Given the description of an element on the screen output the (x, y) to click on. 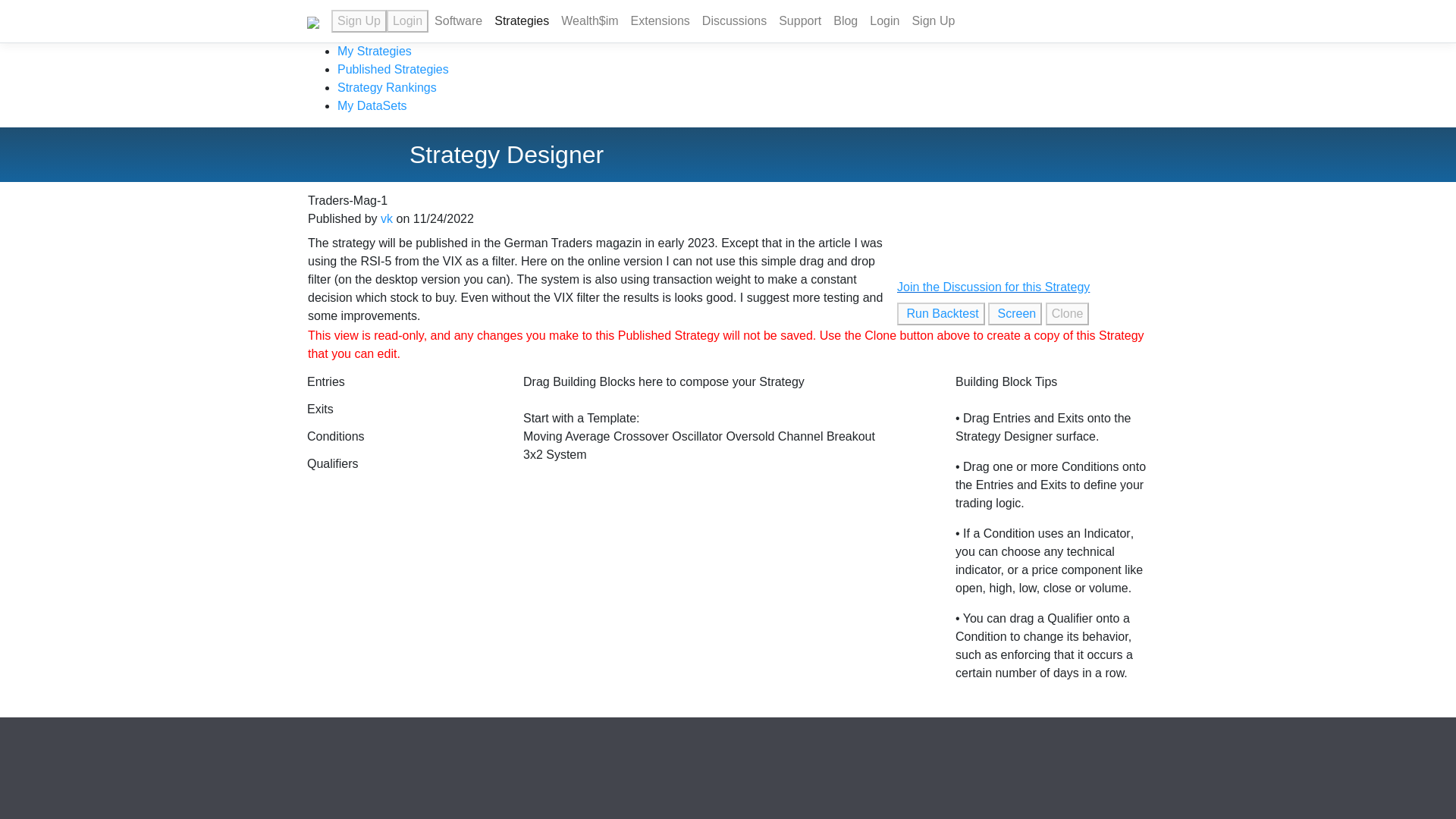
Support (800, 20)
Strategies (520, 20)
Run Backtest (941, 313)
vk (386, 218)
 Run Backtest (940, 313)
Strategy Rankings (386, 87)
Sign Up (932, 20)
Sign Up (359, 20)
My Strategies (374, 51)
Make a copy of the Strategy that you can edit (1067, 313)
Extensions (659, 20)
Clone (1067, 313)
Software (457, 20)
Blog (845, 20)
Discussions (734, 20)
